Given the description of an element on the screen output the (x, y) to click on. 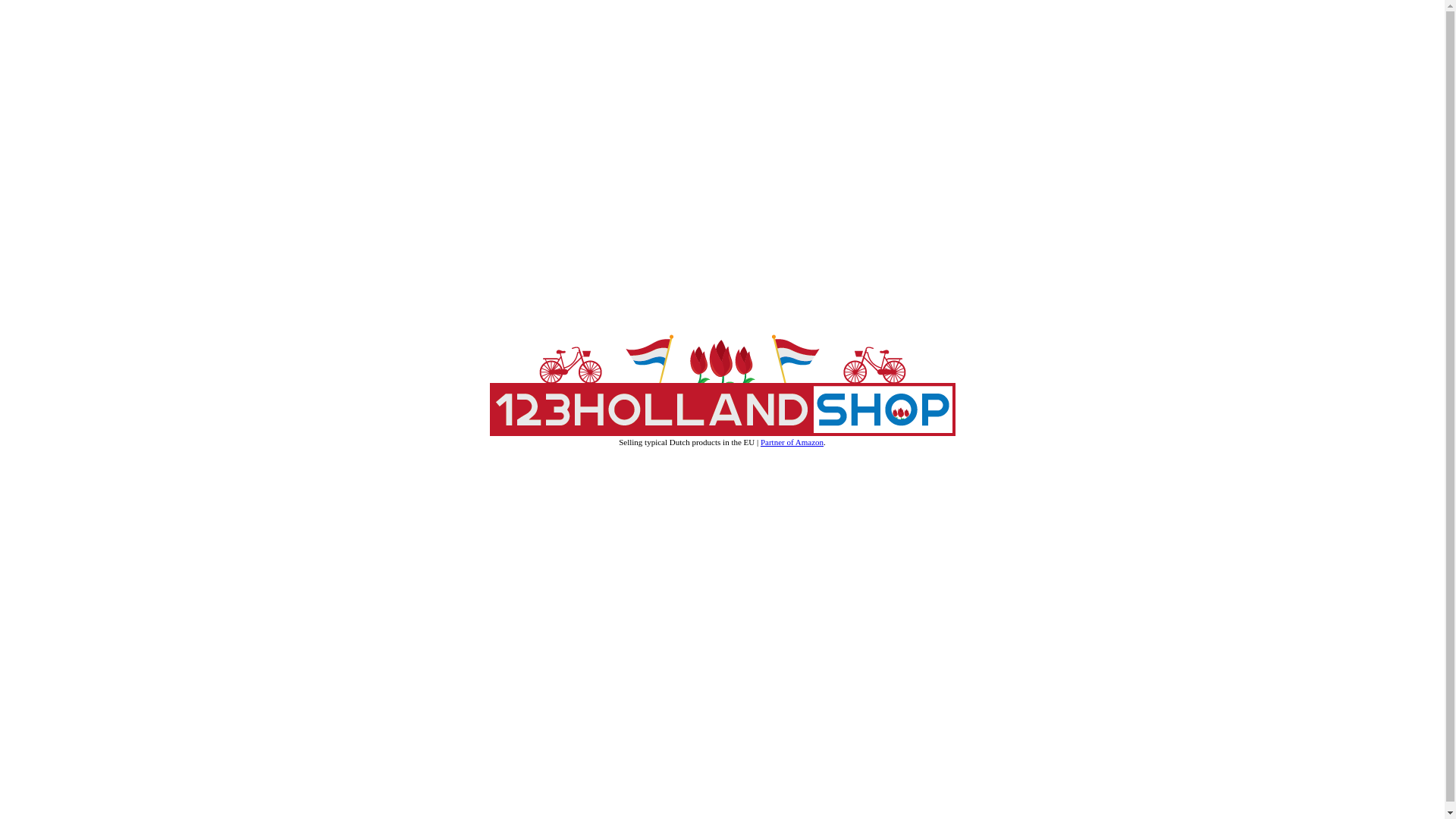
Partner of Amazon Element type: text (791, 441)
